Given the description of an element on the screen output the (x, y) to click on. 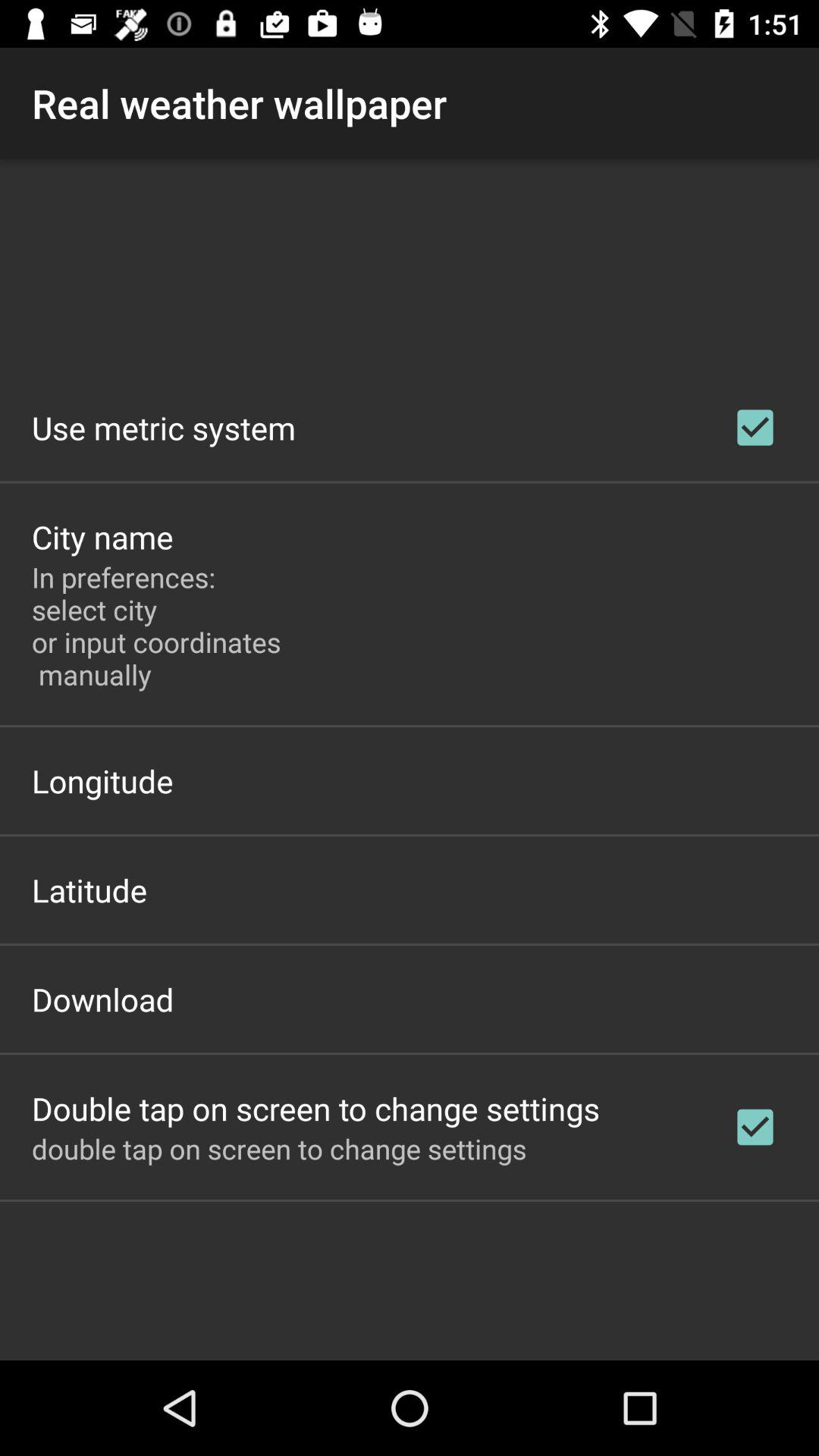
open the item below the real weather wallpaper app (163, 427)
